Given the description of an element on the screen output the (x, y) to click on. 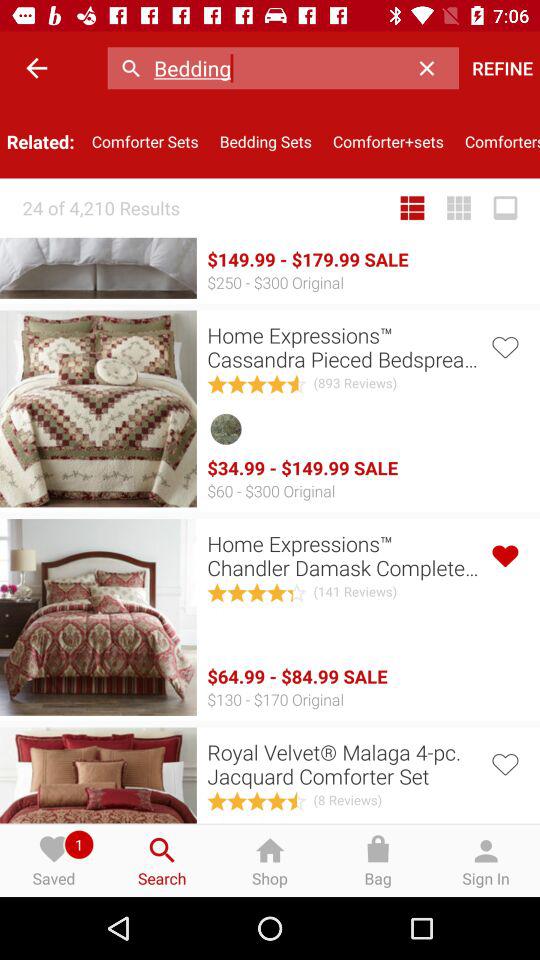
select the refine item (502, 68)
